Given the description of an element on the screen output the (x, y) to click on. 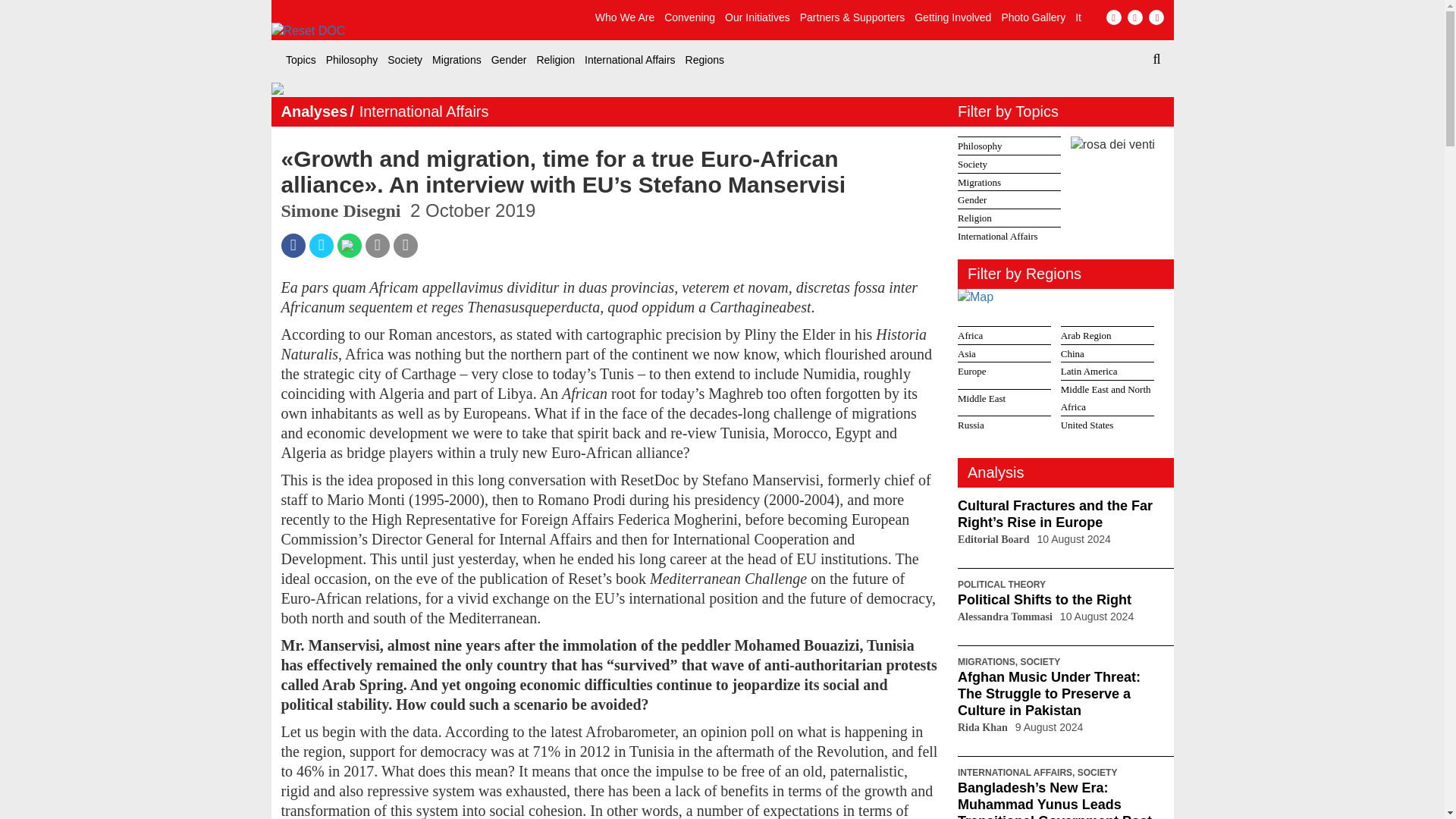
Society (404, 59)
International Affairs (630, 59)
Our Initiatives (757, 17)
Convening (688, 17)
Analyses (314, 111)
Reset DOC (430, 31)
Simone Disegni (342, 210)
Religion (555, 59)
Our Initiatives (757, 17)
International Affairs (630, 59)
